Given the description of an element on the screen output the (x, y) to click on. 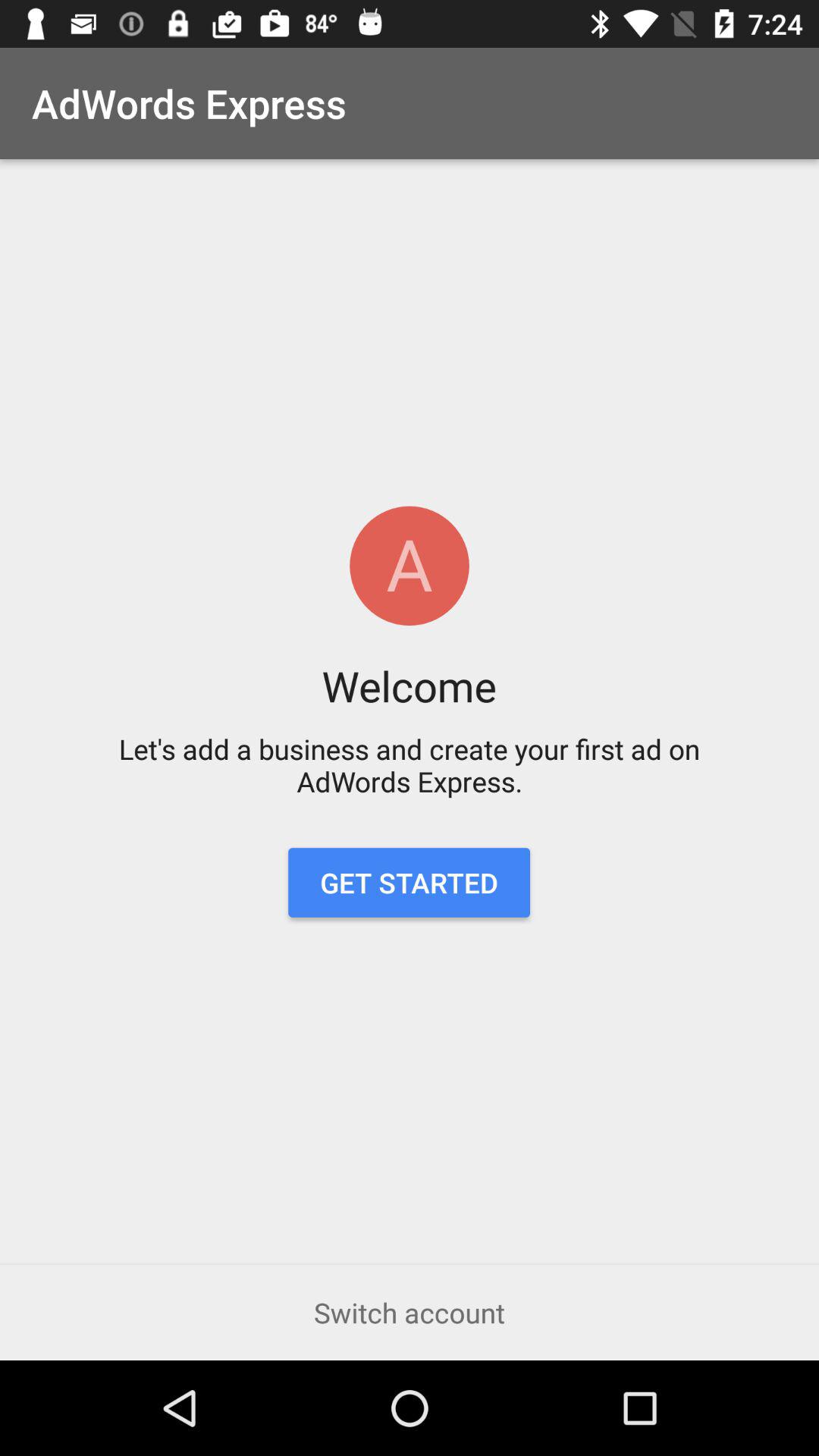
tap the icon below the let s add (409, 882)
